Given the description of an element on the screen output the (x, y) to click on. 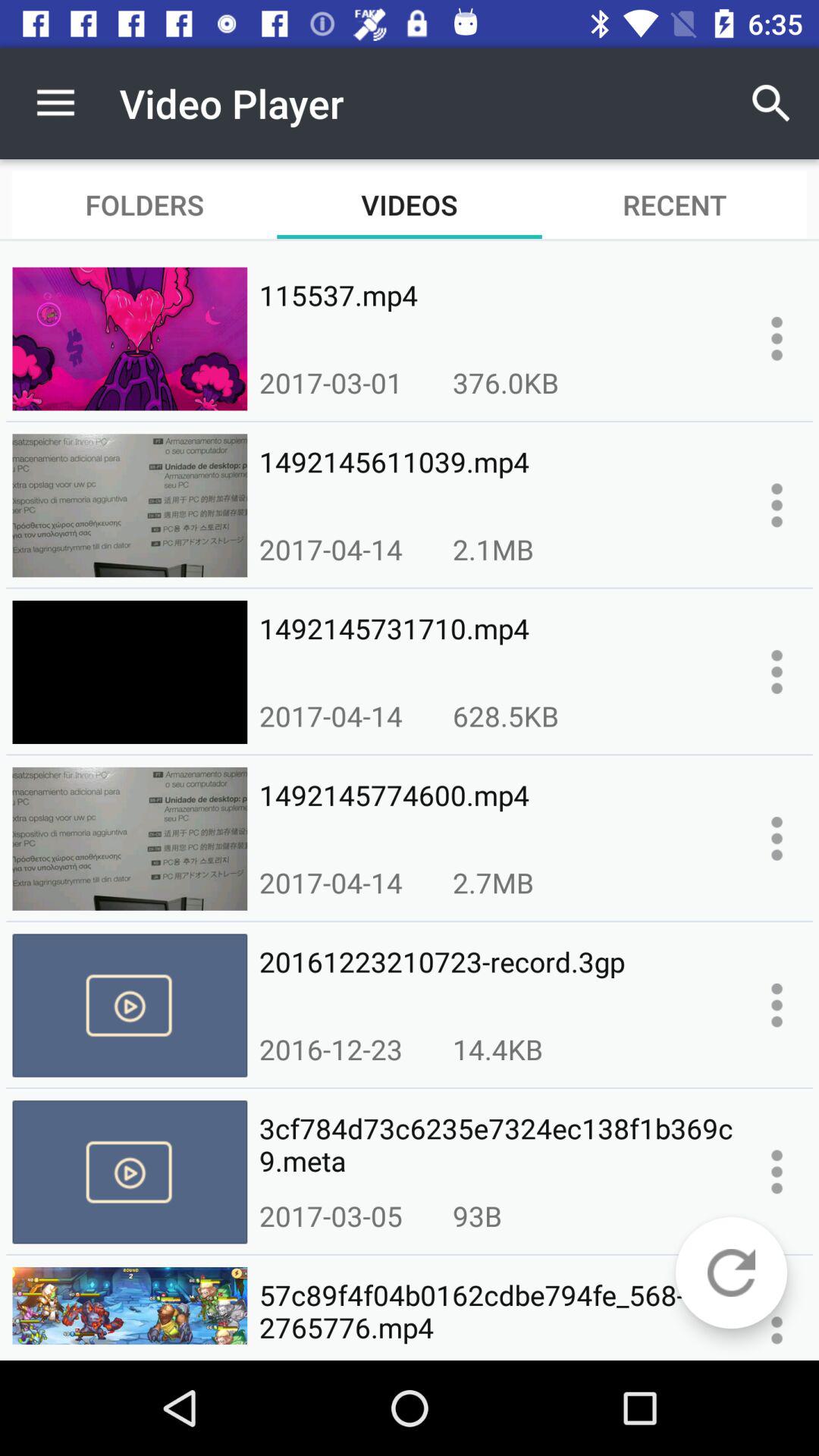
tap item above the 2017-03-05 (496, 1145)
